Given the description of an element on the screen output the (x, y) to click on. 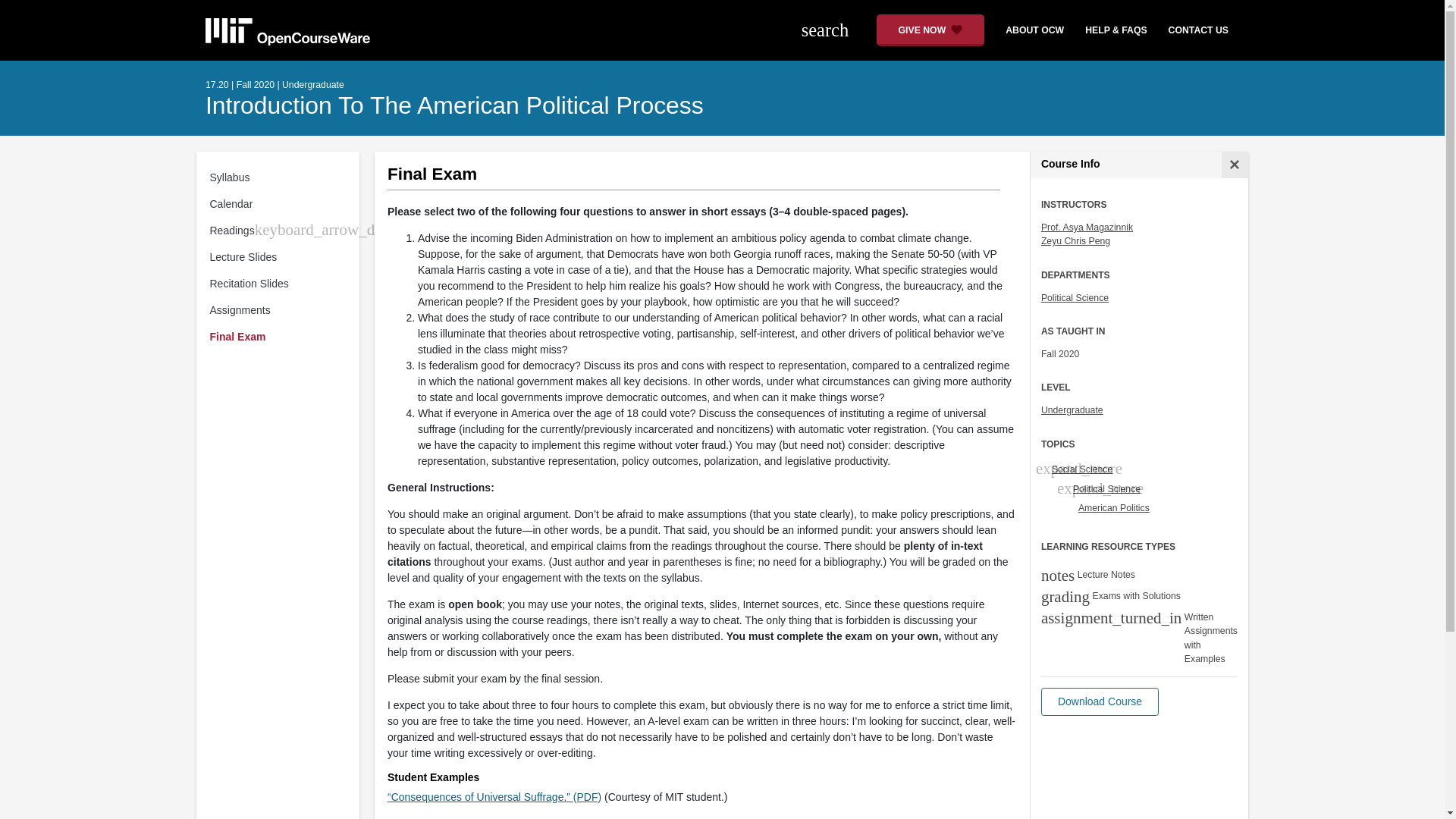
Syllabus (281, 177)
ABOUT OCW (1029, 30)
Introduction To The American Political Process (454, 104)
CONTACT US (1198, 30)
GIVE NOW (930, 29)
Readings (231, 230)
search (833, 30)
Calendar (281, 203)
